Given the description of an element on the screen output the (x, y) to click on. 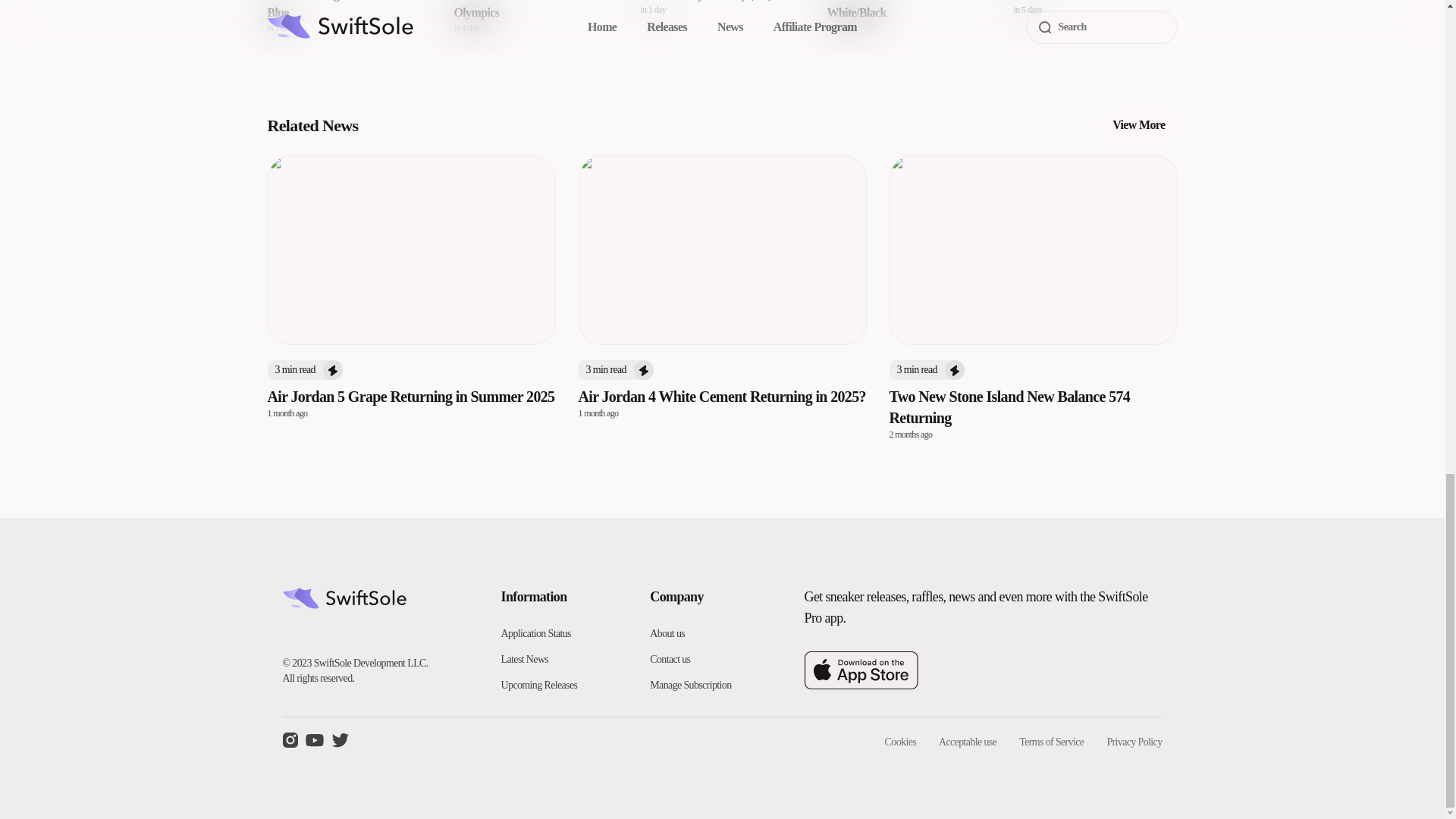
Latest News (524, 659)
View More (1094, 17)
Application Status (1138, 124)
Upcoming Releases (534, 17)
About us (535, 633)
Contact us (539, 685)
Manage Subscription (666, 633)
